Given the description of an element on the screen output the (x, y) to click on. 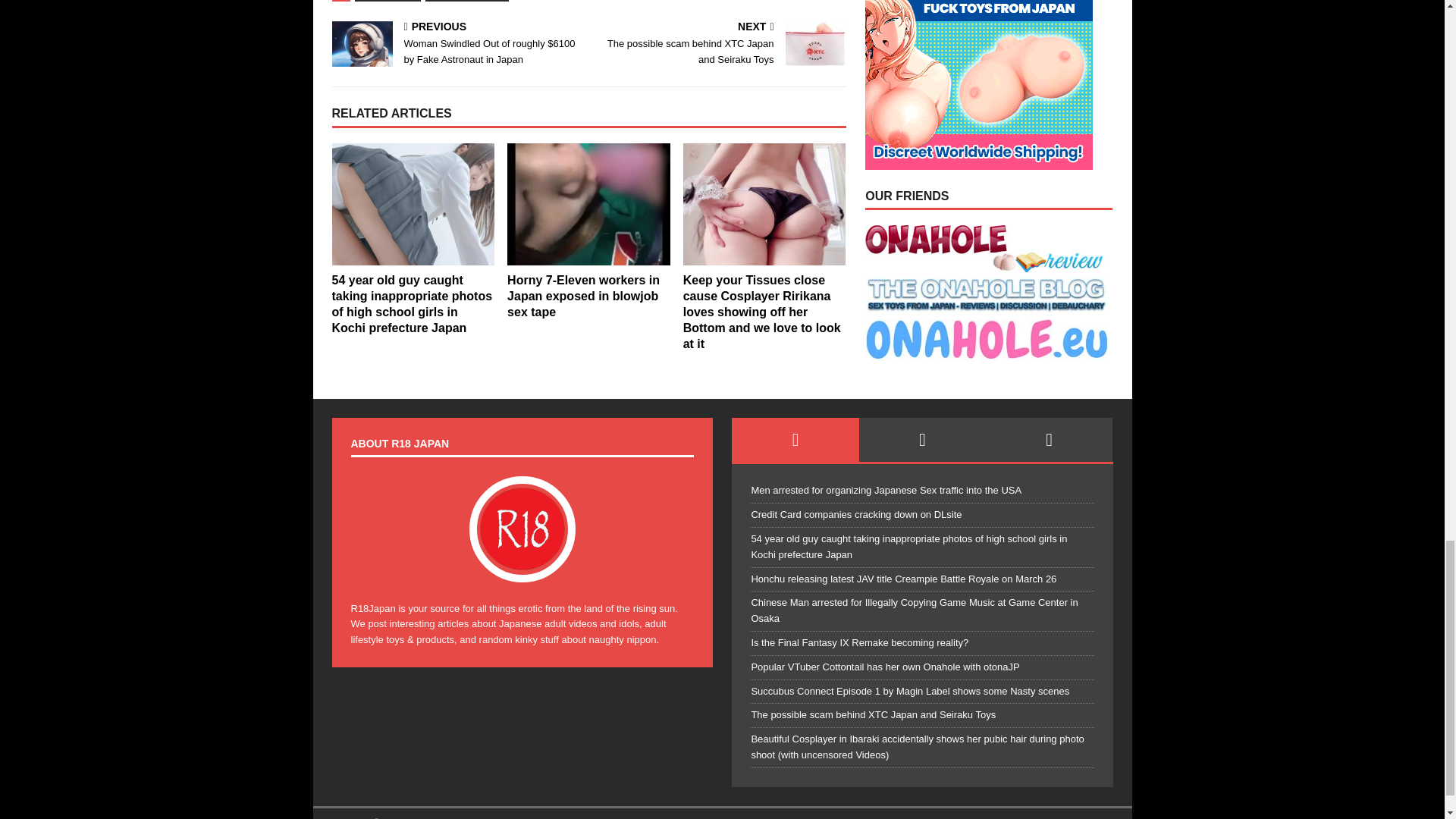
COSPLAY (720, 44)
KINKY JAPAN (387, 0)
